Given the description of an element on the screen output the (x, y) to click on. 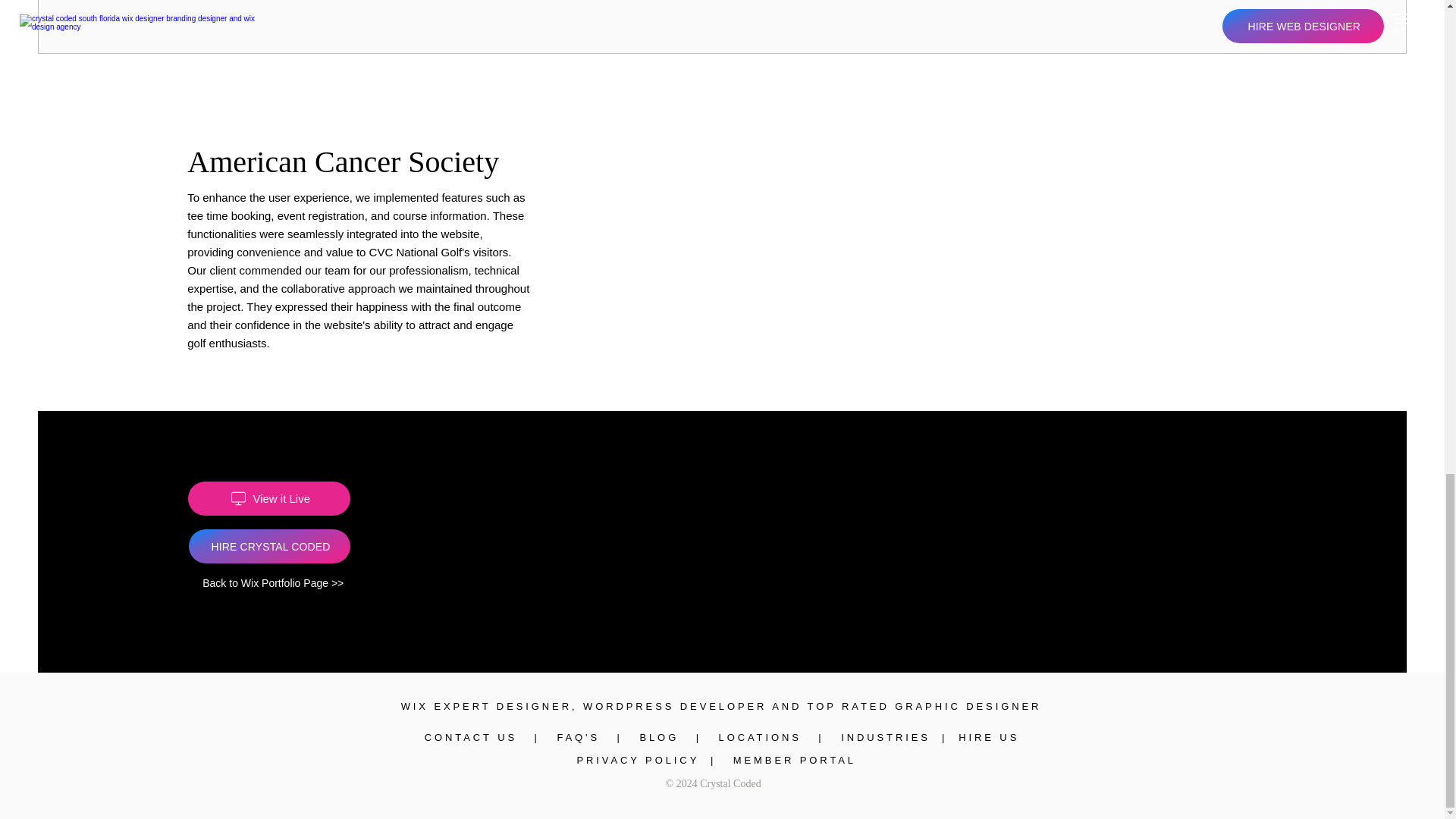
FAQ'S  (580, 737)
LOCATIONS (760, 737)
CONTACT US  (473, 737)
HIRE US (988, 737)
INDUSTRIES (885, 737)
HIRE CRYSTAL CODED (269, 546)
PRIVACY POLICY (637, 759)
View it Live (268, 498)
BLOG (658, 737)
